Given the description of an element on the screen output the (x, y) to click on. 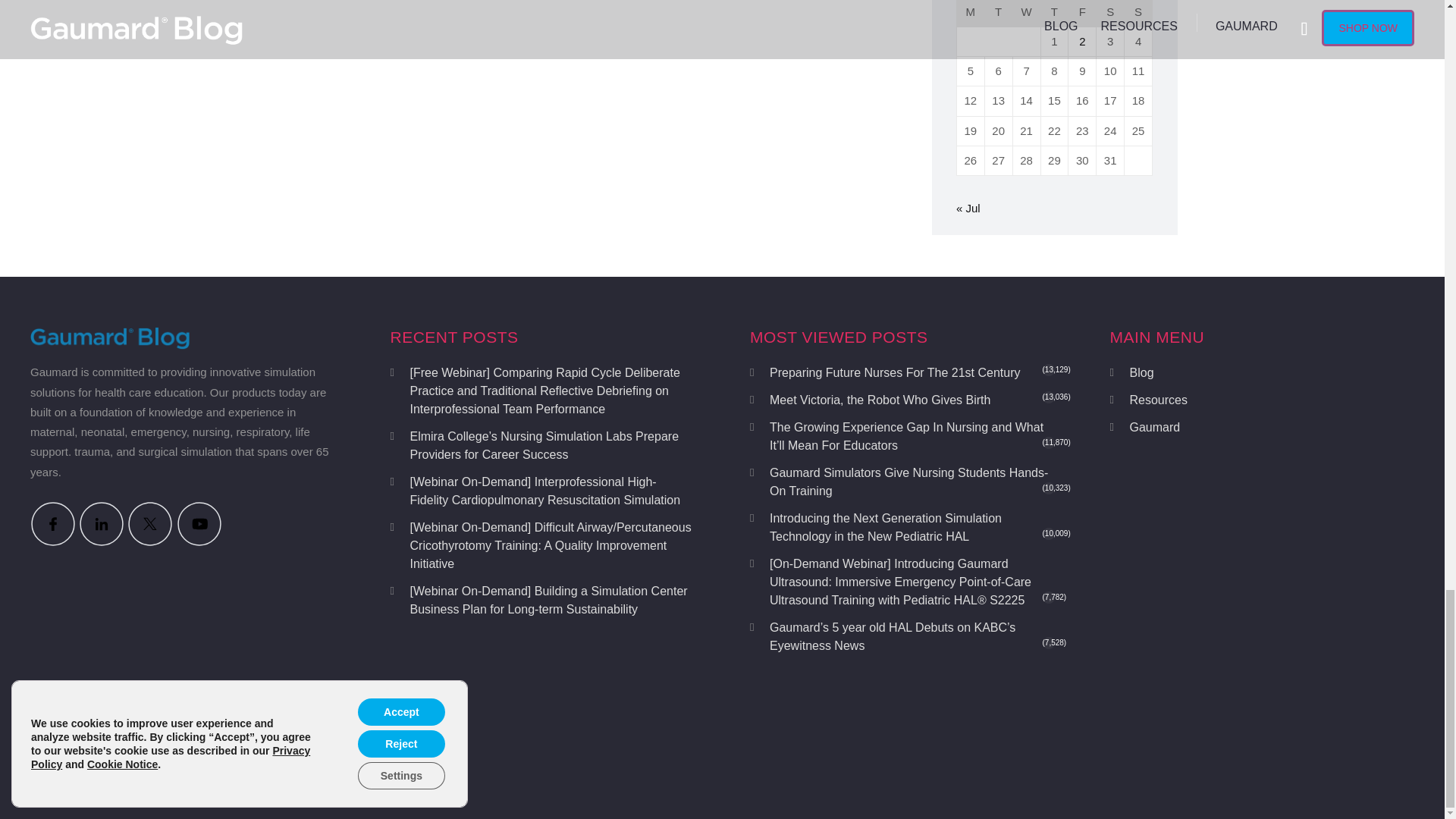
Monday (970, 13)
Thursday (1054, 13)
Friday (1082, 13)
Follow us on Facebook (52, 524)
Saturday (1110, 13)
Tuesday (999, 13)
Wednesday (1027, 13)
Sunday (1138, 13)
